Given the description of an element on the screen output the (x, y) to click on. 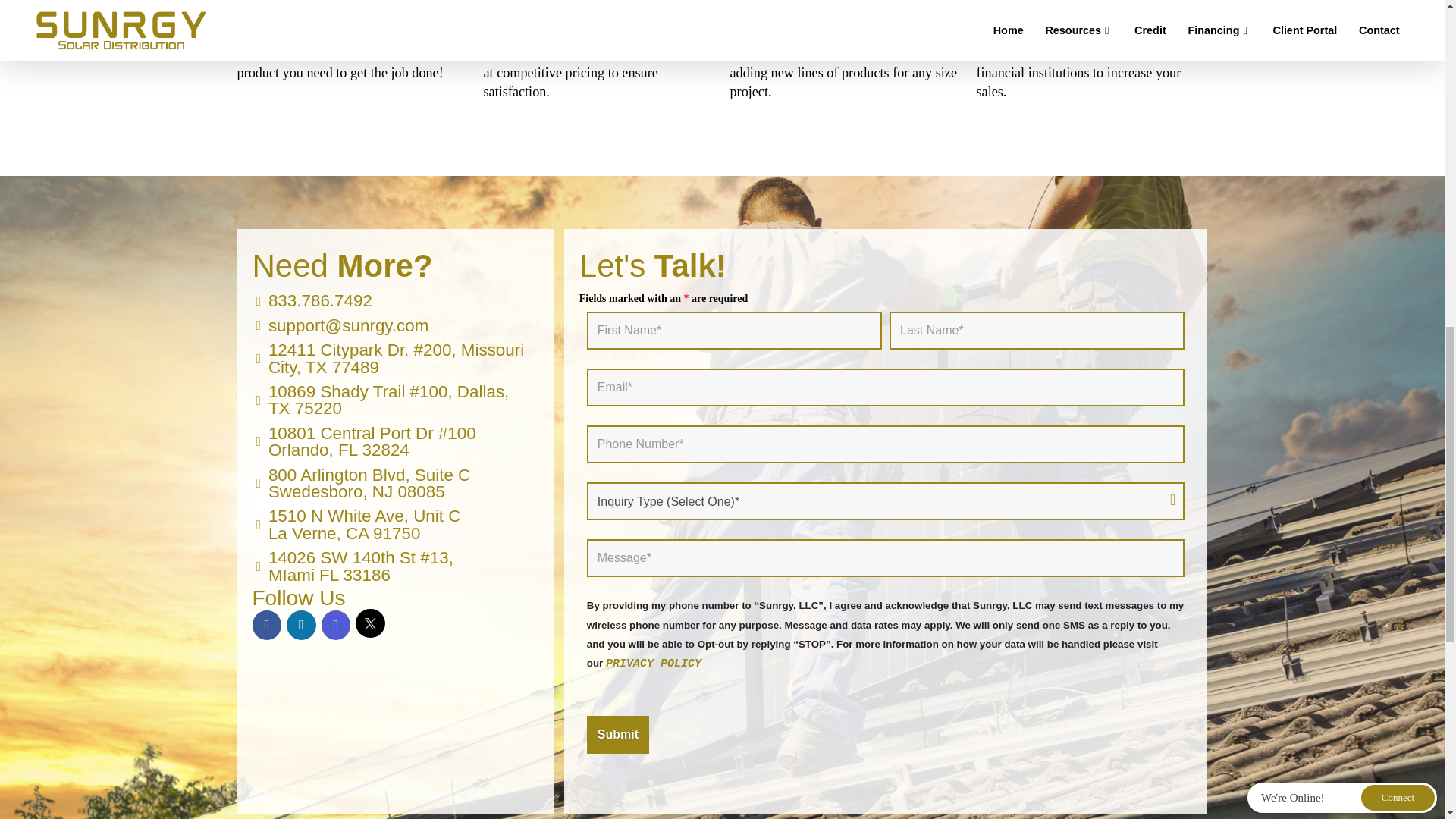
Submit (357, 525)
833.786.7492 (617, 734)
Submit (313, 300)
PRIVACY POLICY (617, 734)
